Given the description of an element on the screen output the (x, y) to click on. 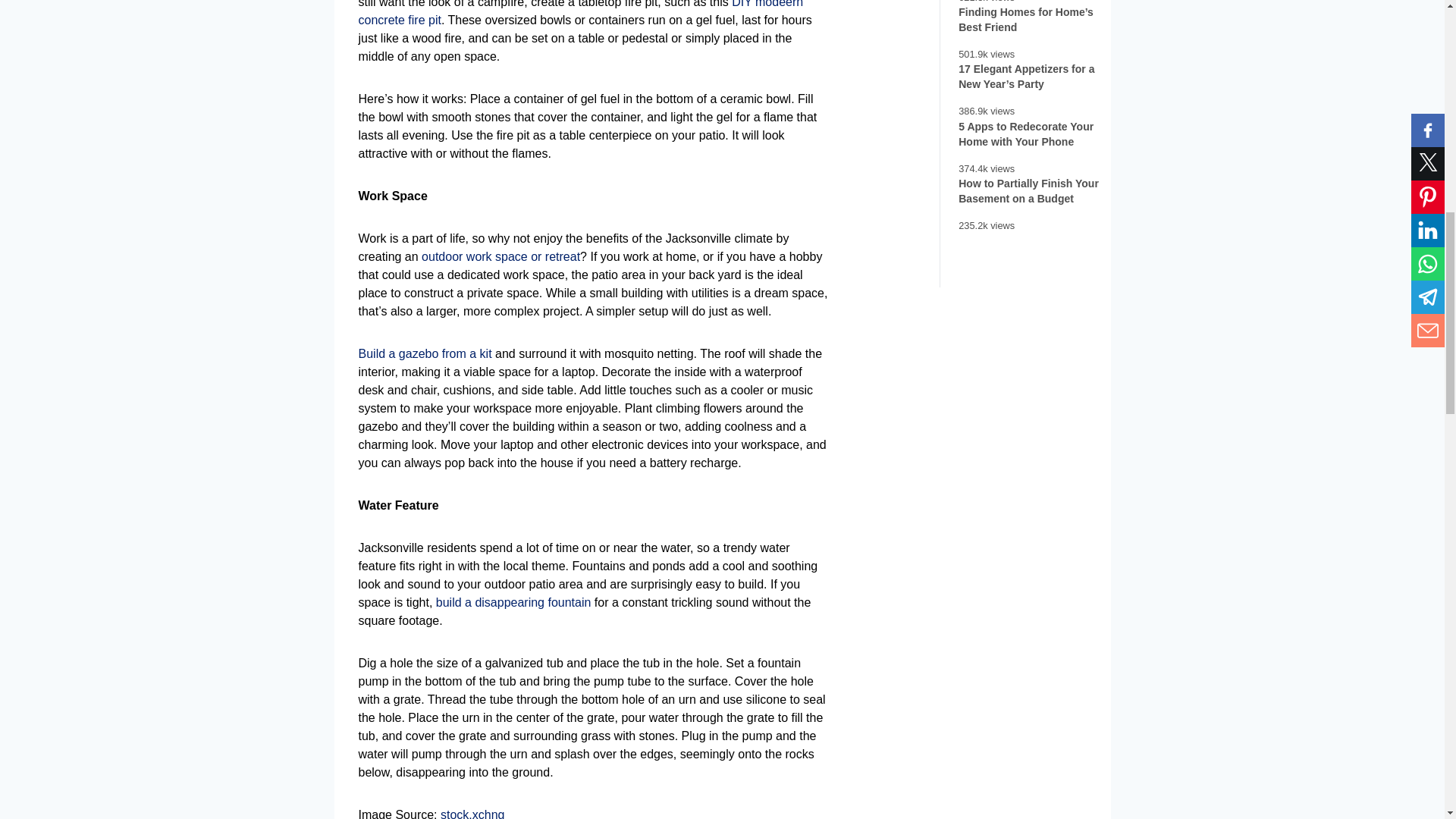
outdoor work space or retreat (500, 256)
Build a gazebo from a kit (425, 353)
DIY modeern concrete fire pit (580, 13)
stock.xchng (472, 813)
build a disappearing fountain (513, 602)
5 Apps to Redecorate Your Home with Your Phone (1032, 133)
How to Partially Finish Your Basement on a Budget (1032, 191)
